Given the description of an element on the screen output the (x, y) to click on. 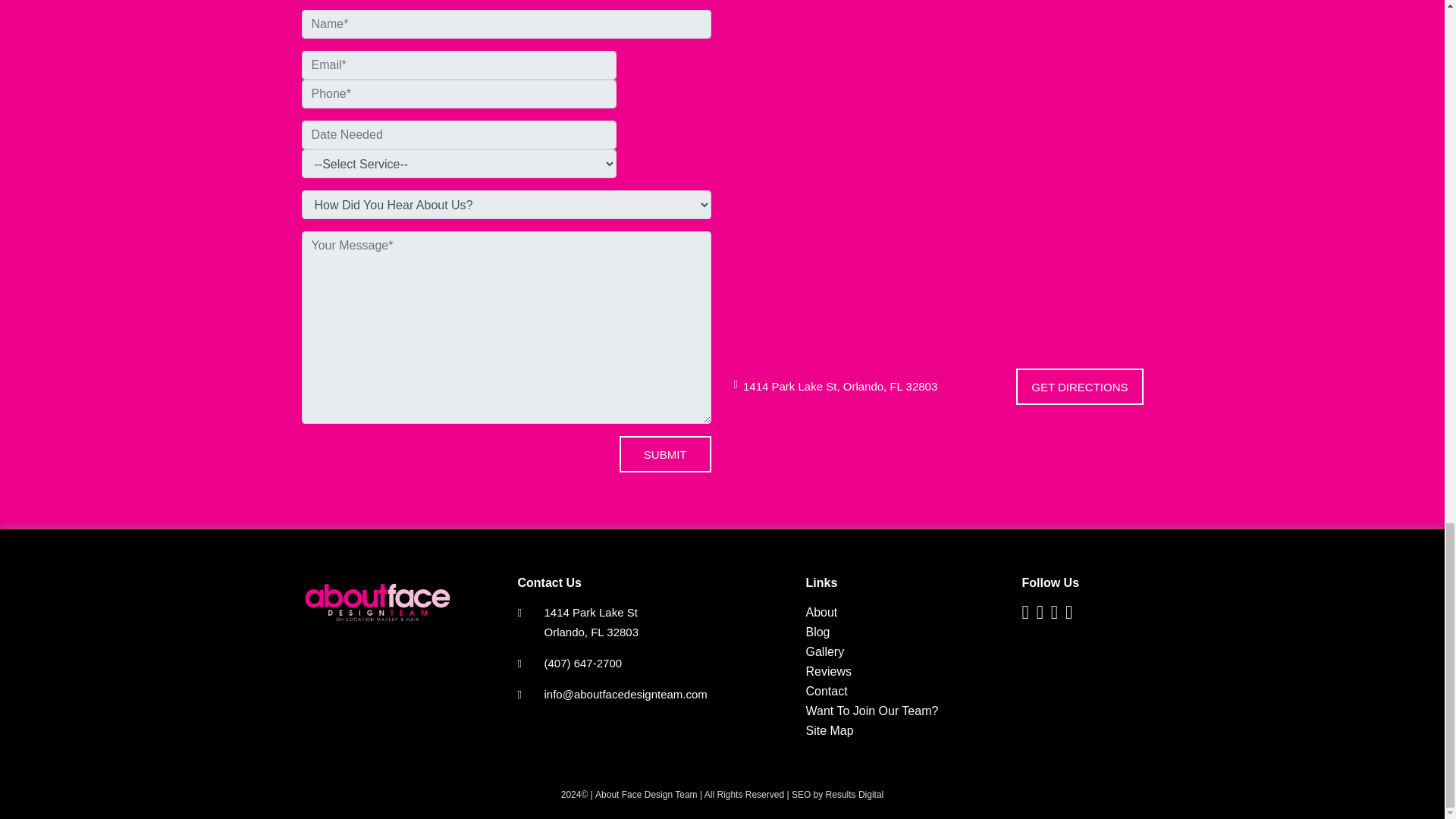
GET DIRECTIONS (1079, 386)
Submit (665, 453)
Submit (665, 453)
